Given the description of an element on the screen output the (x, y) to click on. 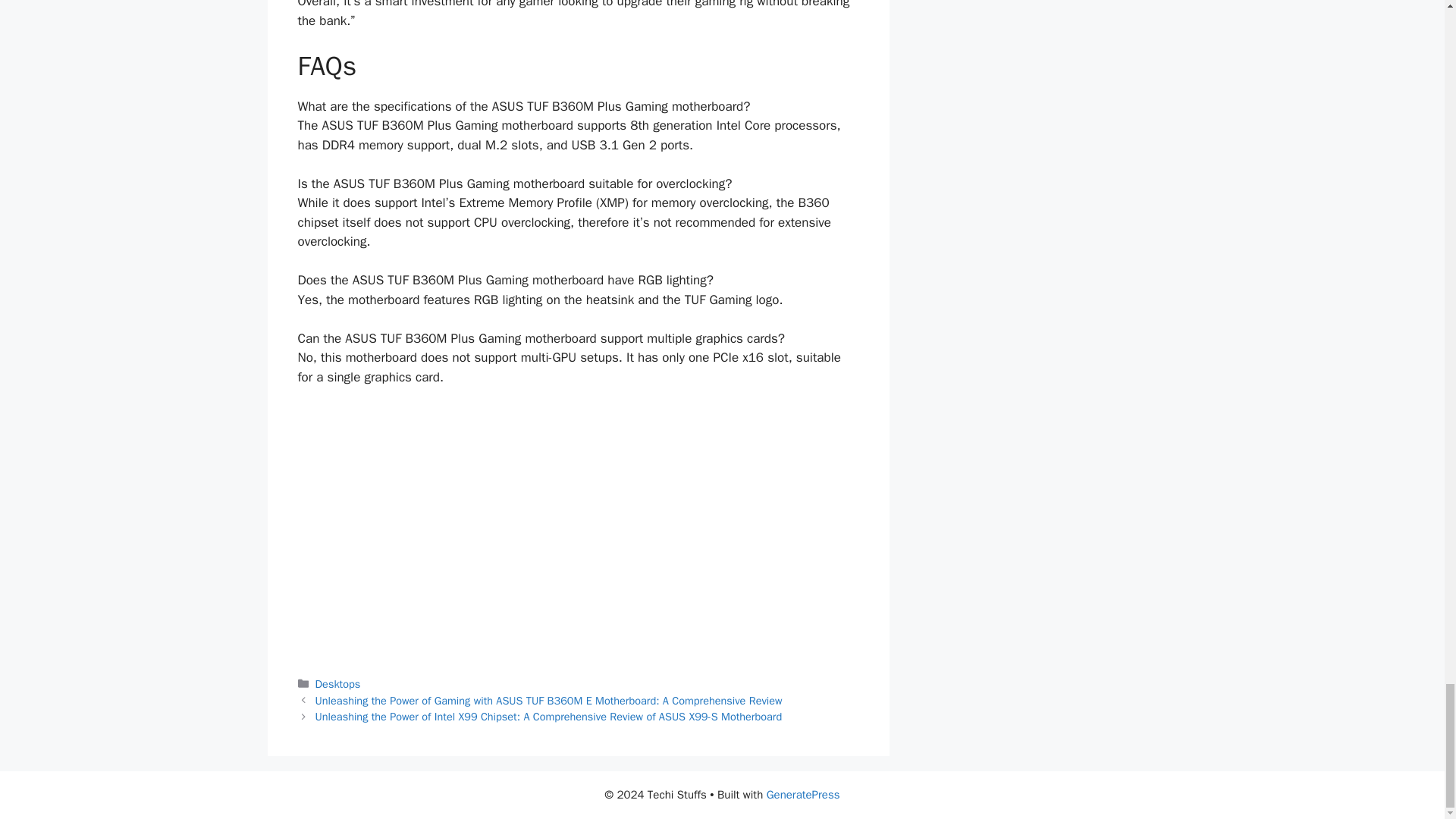
Desktops (338, 684)
